Given the description of an element on the screen output the (x, y) to click on. 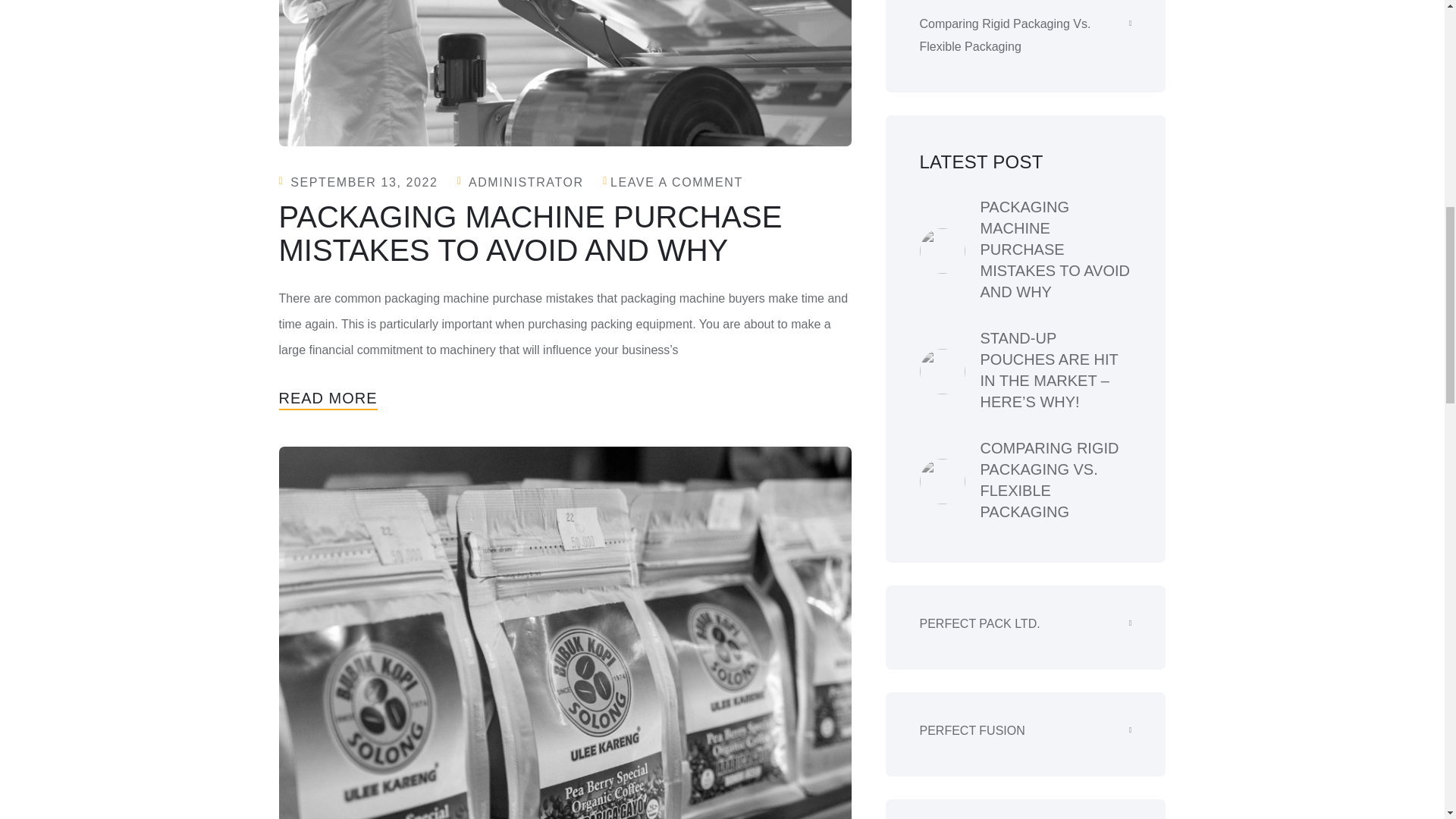
PACKAGING MACHINE PURCHASE MISTAKES TO AVOID AND WHY (531, 232)
LEAVE A COMMENT (676, 182)
READ MORE (328, 397)
SEPTEMBER 13, 2022 (363, 182)
ADMINISTRATOR (525, 182)
